Given the description of an element on the screen output the (x, y) to click on. 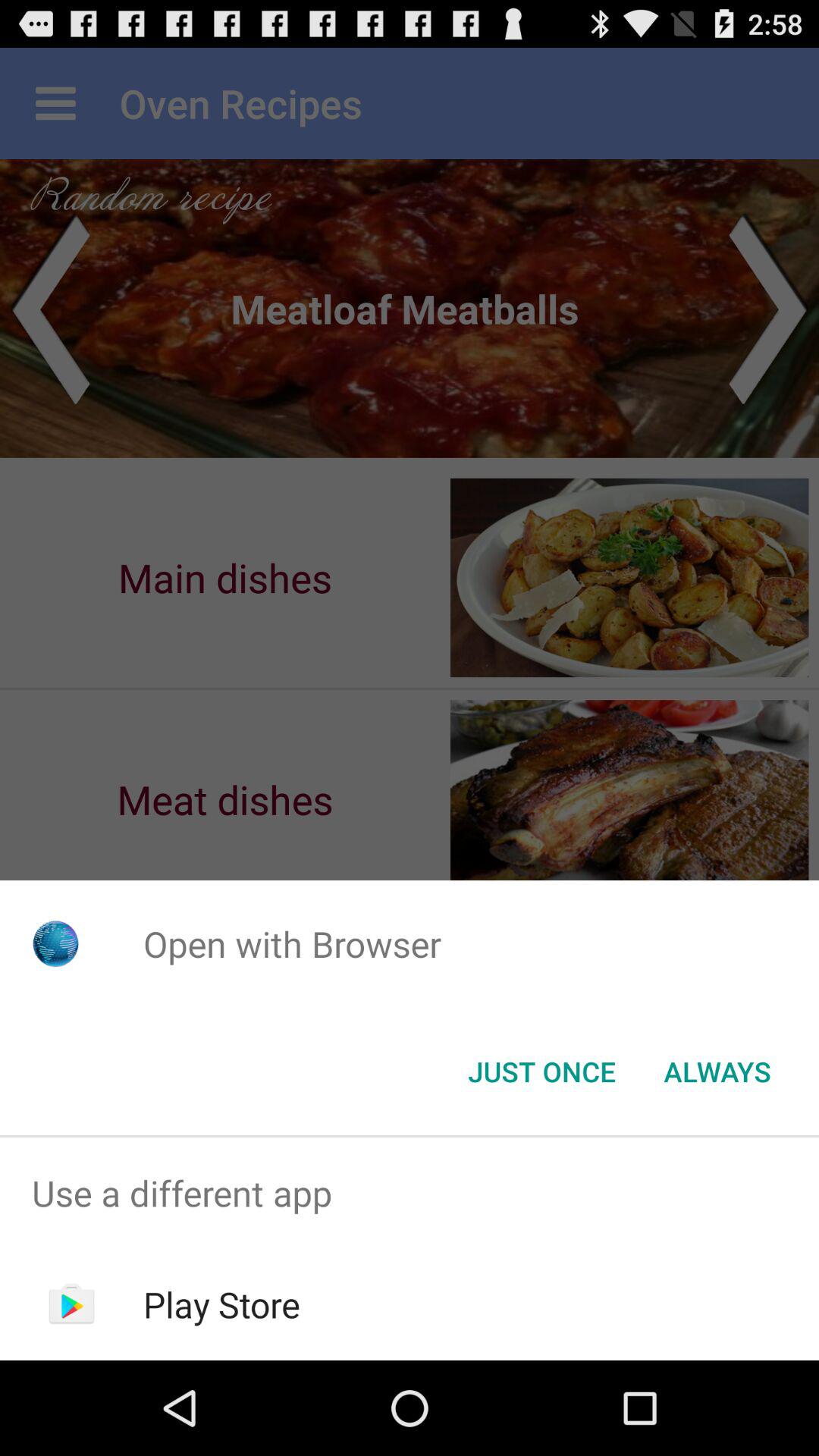
click the use a different icon (409, 1192)
